Given the description of an element on the screen output the (x, y) to click on. 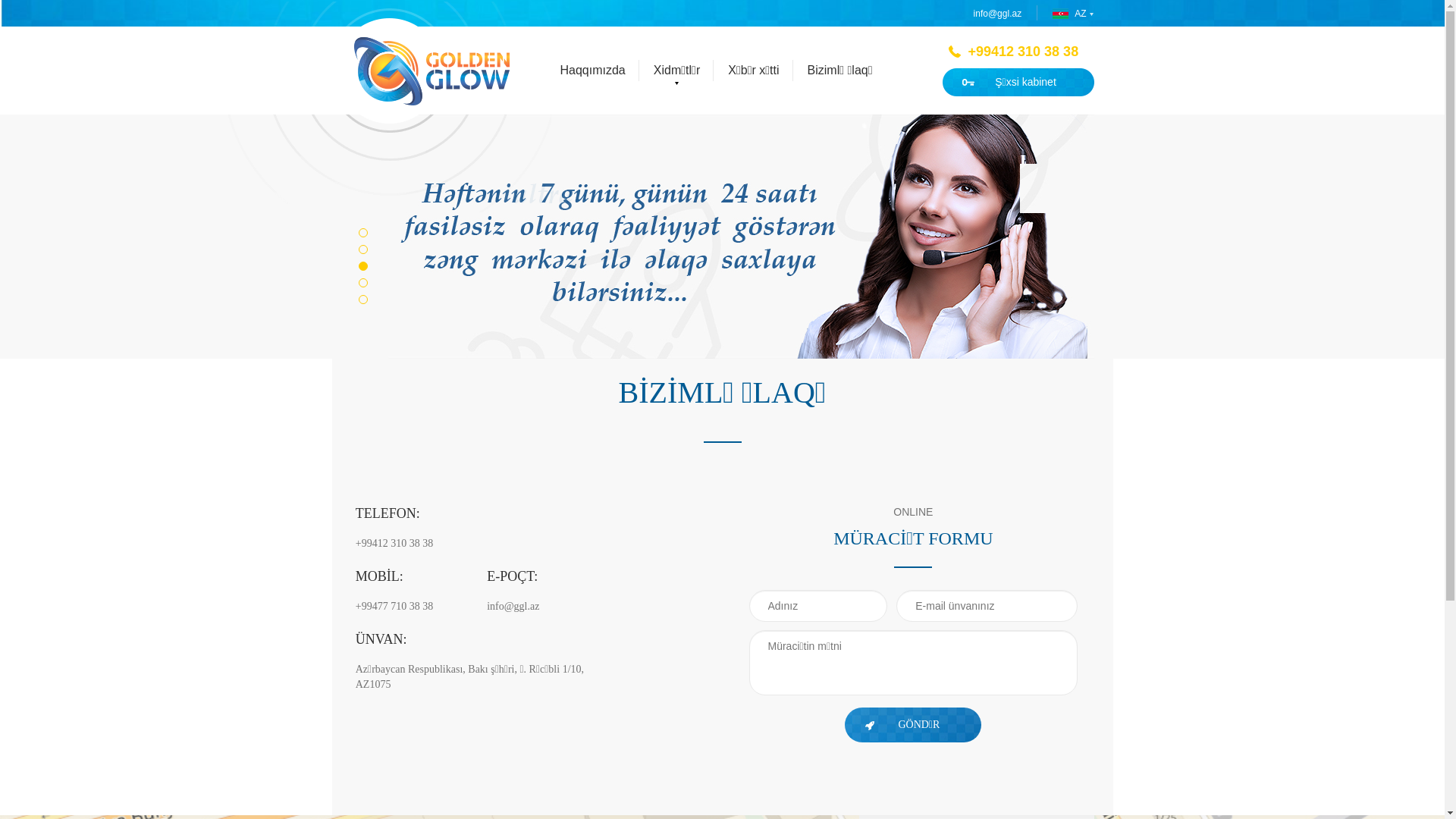
AZ Element type: text (1068, 13)
3 Element type: text (362, 265)
1 Element type: text (362, 232)
5 Element type: text (362, 299)
+99412 310 38 38 Element type: text (538, 543)
info@ggl.az Element type: text (1005, 13)
4 Element type: text (362, 282)
2 Element type: text (362, 249)
+99412 310 38 38 Element type: text (1020, 51)
